Given the description of an element on the screen output the (x, y) to click on. 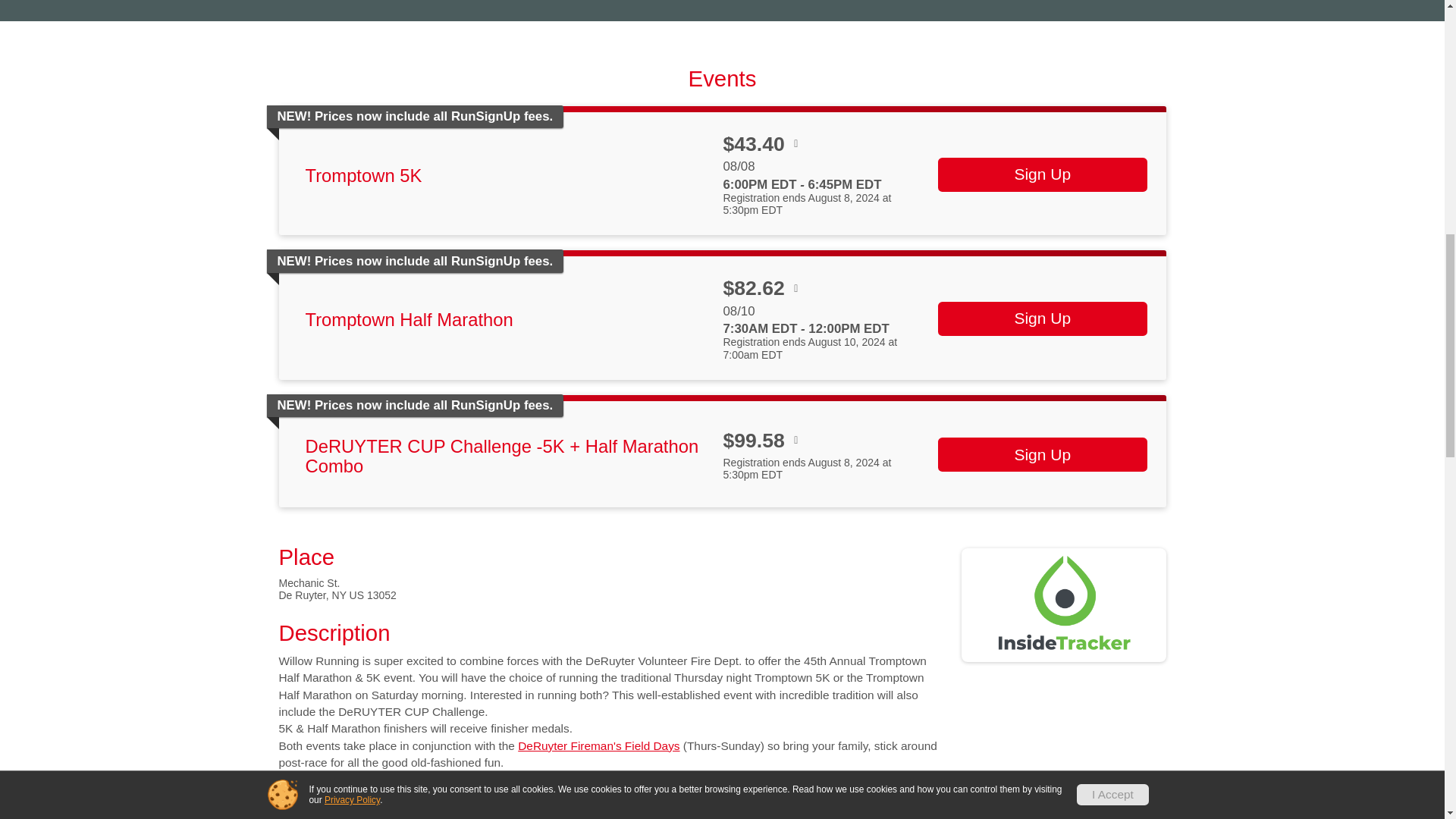
Sign Up (1042, 454)
DeRuyter Fireman's Field Days (598, 745)
Tromptown Half Marathon (408, 319)
Tromptown 5K (363, 175)
Sign Up (1042, 174)
Sign Up (1042, 318)
